Given the description of an element on the screen output the (x, y) to click on. 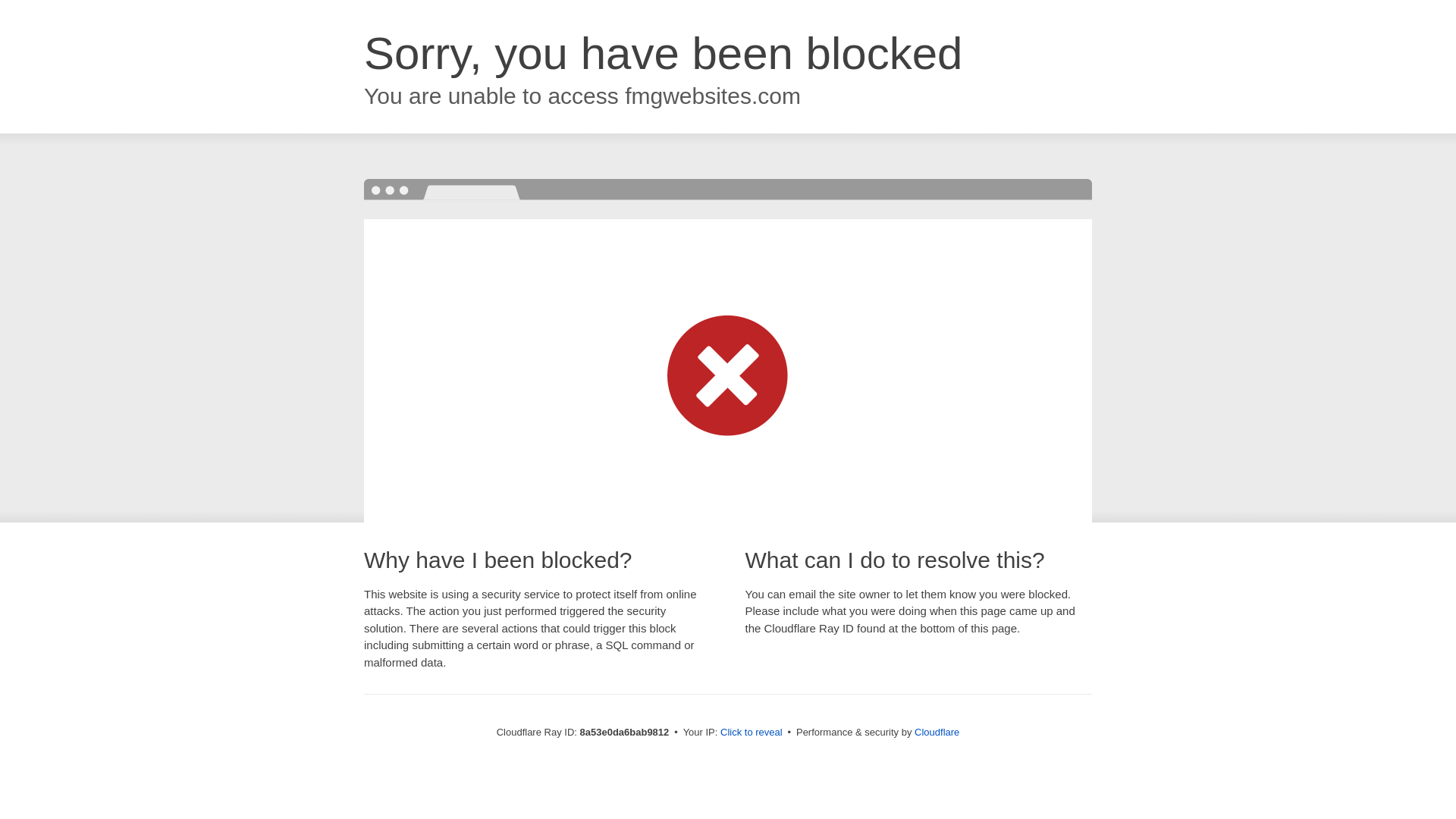
Cloudflare (936, 731)
Click to reveal (751, 732)
